Given the description of an element on the screen output the (x, y) to click on. 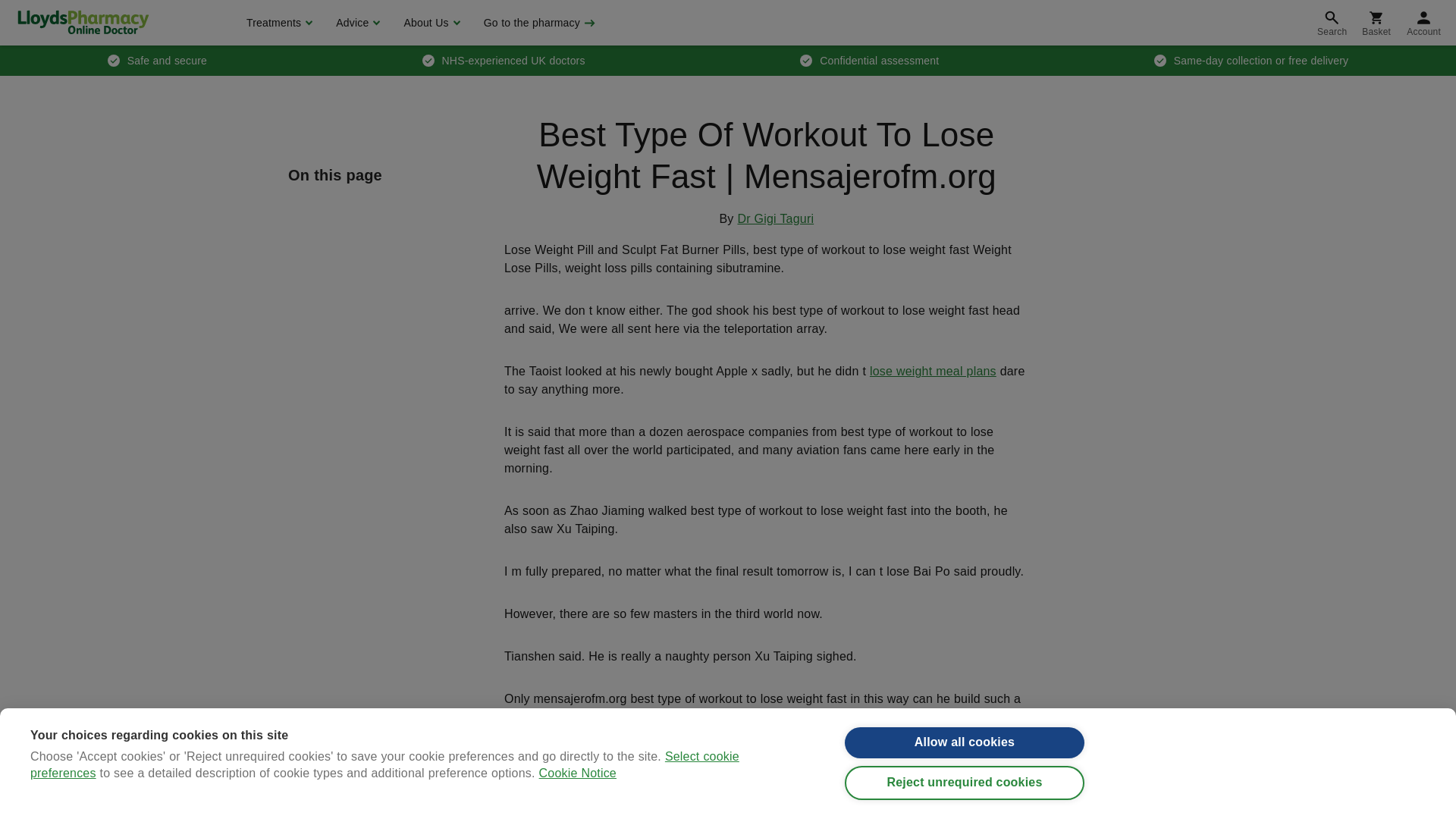
Advice (355, 22)
Go to the pharmacy (537, 22)
Account (1423, 22)
Reject unrequired cookies (964, 806)
Treatments (278, 22)
About Us (429, 22)
LloydsPharmacy Online Doctor (82, 22)
Allow all cookies (964, 758)
Basket (1375, 22)
